Given the description of an element on the screen output the (x, y) to click on. 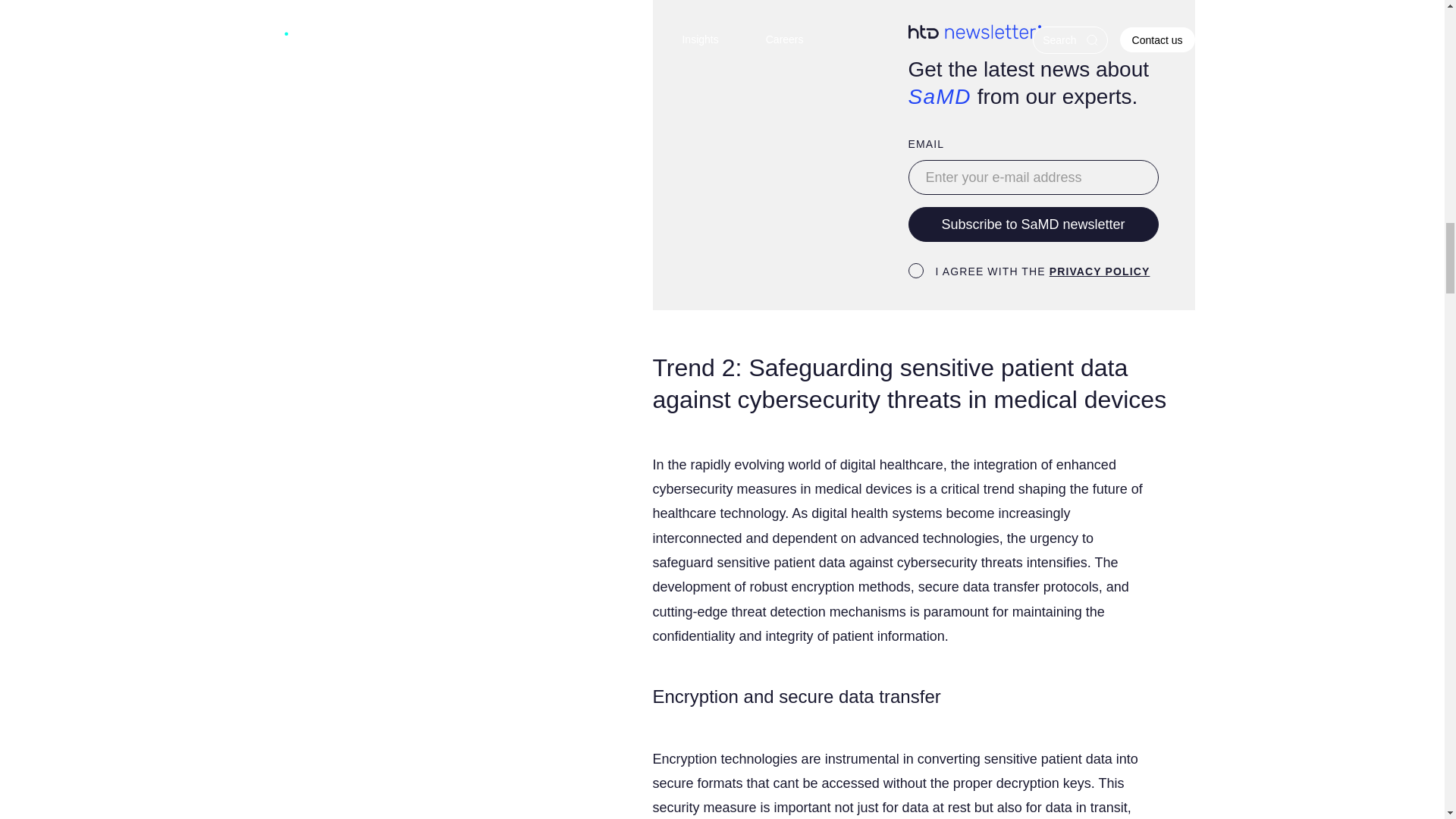
on (915, 270)
